Given the description of an element on the screen output the (x, y) to click on. 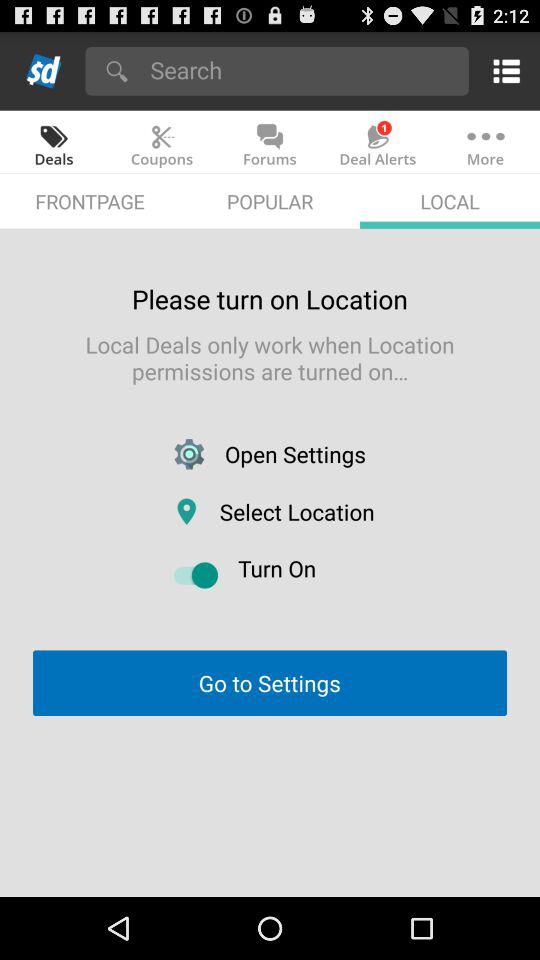
open the go to settings app (269, 682)
